Given the description of an element on the screen output the (x, y) to click on. 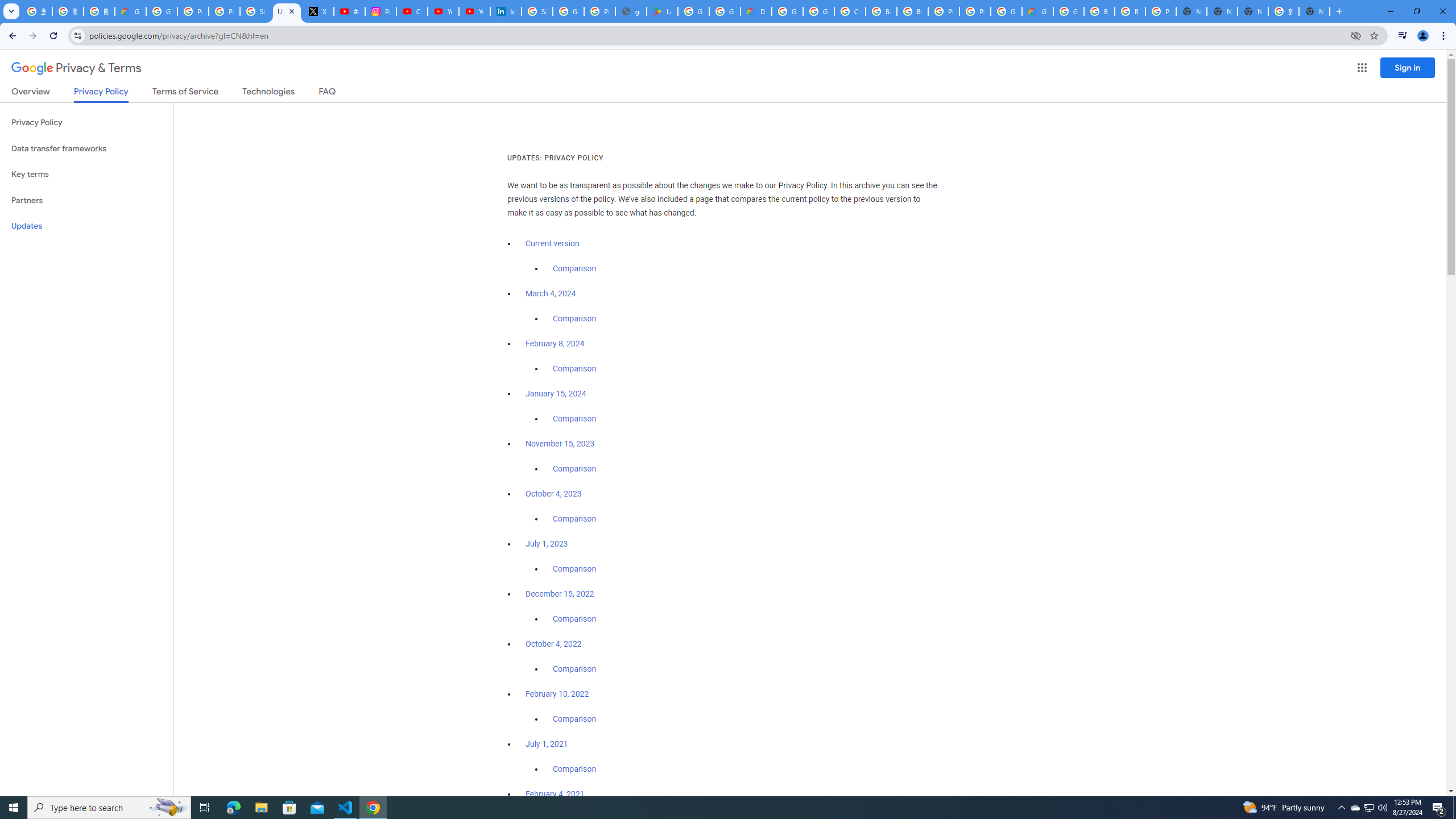
Browse Chrome as a guest - Computer - Google Chrome Help (881, 11)
December 15, 2022 (559, 593)
October 4, 2023 (553, 493)
October 4, 2022 (553, 643)
February 10, 2022 (557, 693)
